Given the description of an element on the screen output the (x, y) to click on. 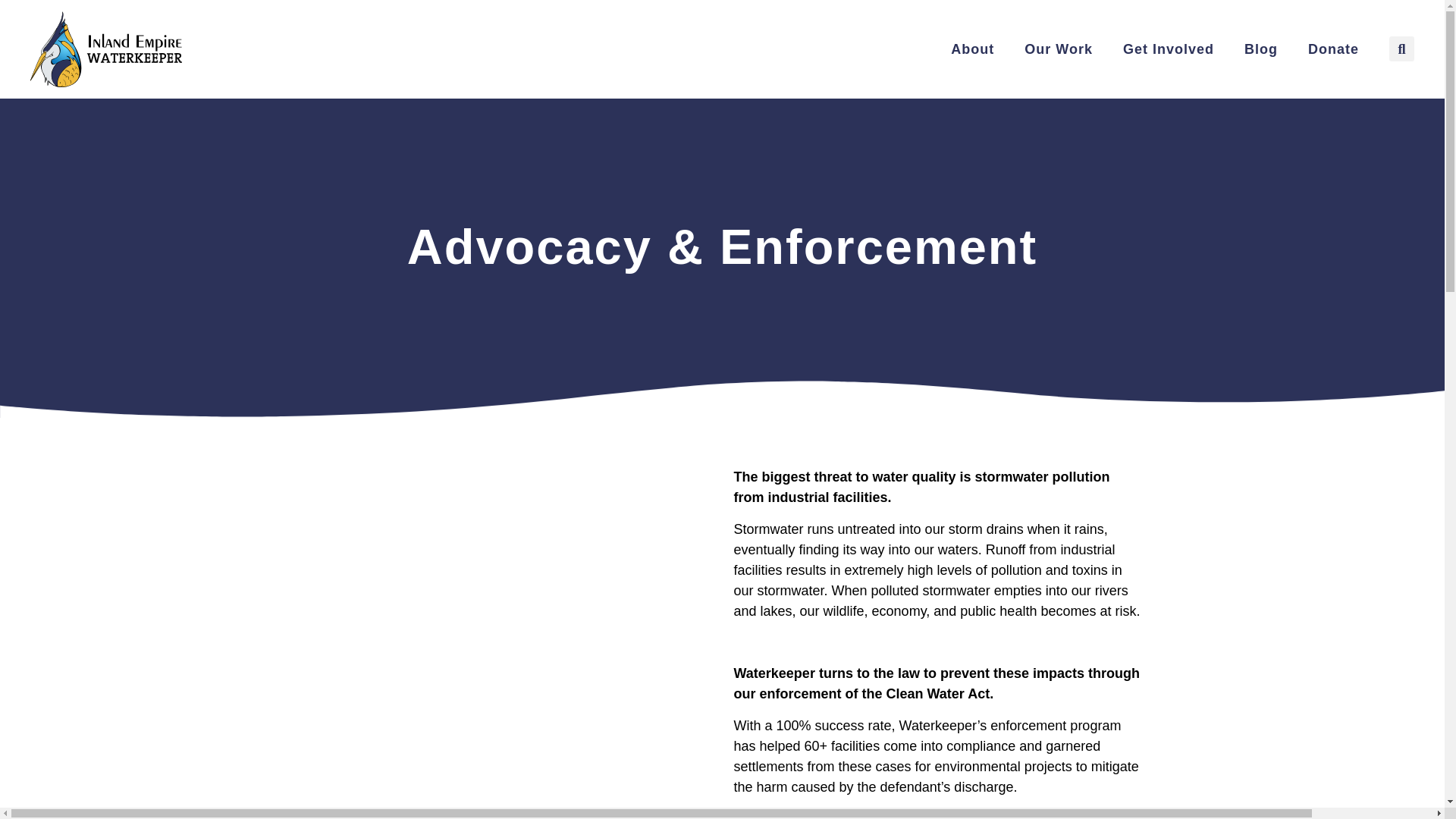
Blog (1260, 48)
Donate (1333, 48)
About (972, 48)
Get Involved (1168, 48)
Our Work (1058, 48)
